Given the description of an element on the screen output the (x, y) to click on. 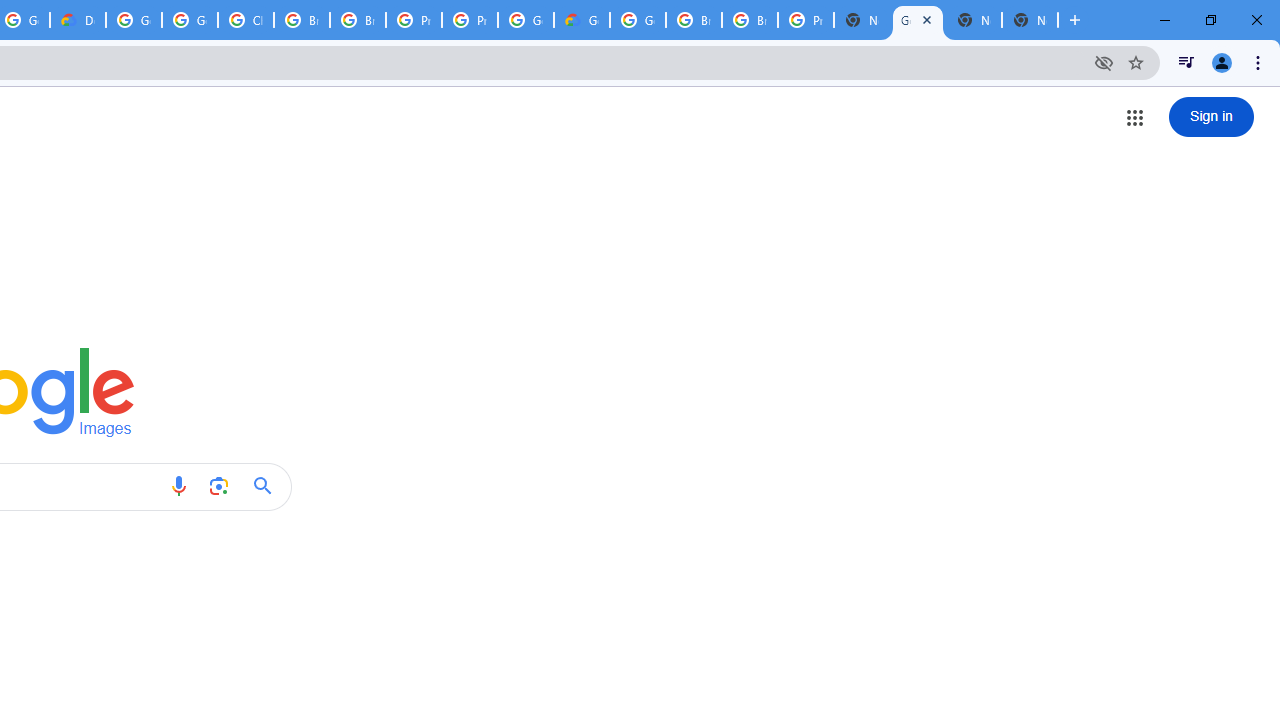
Google Cloud Platform (134, 20)
Google Cloud Platform (637, 20)
Google Cloud Estimate Summary (582, 20)
Browse Chrome as a guest - Computer - Google Chrome Help (693, 20)
